Given the description of an element on the screen output the (x, y) to click on. 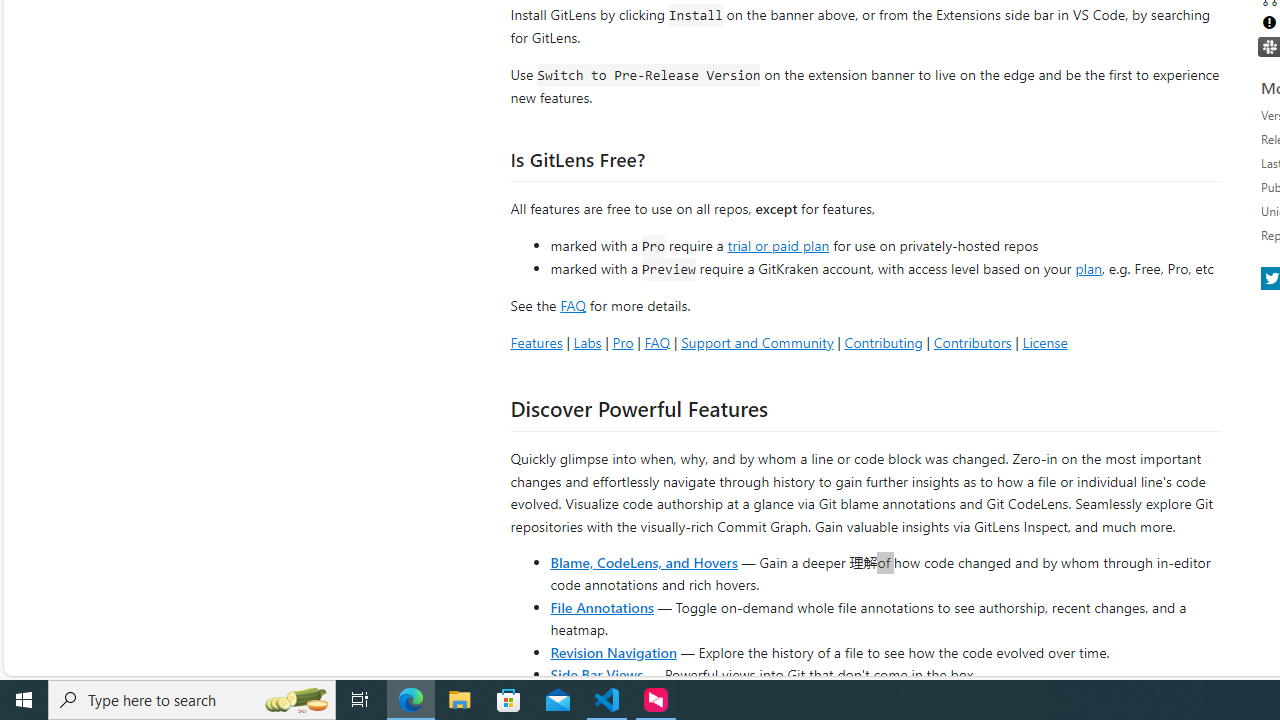
Support and Community (757, 341)
FAQ (656, 341)
trial or paid plan (778, 244)
